Given the description of an element on the screen output the (x, y) to click on. 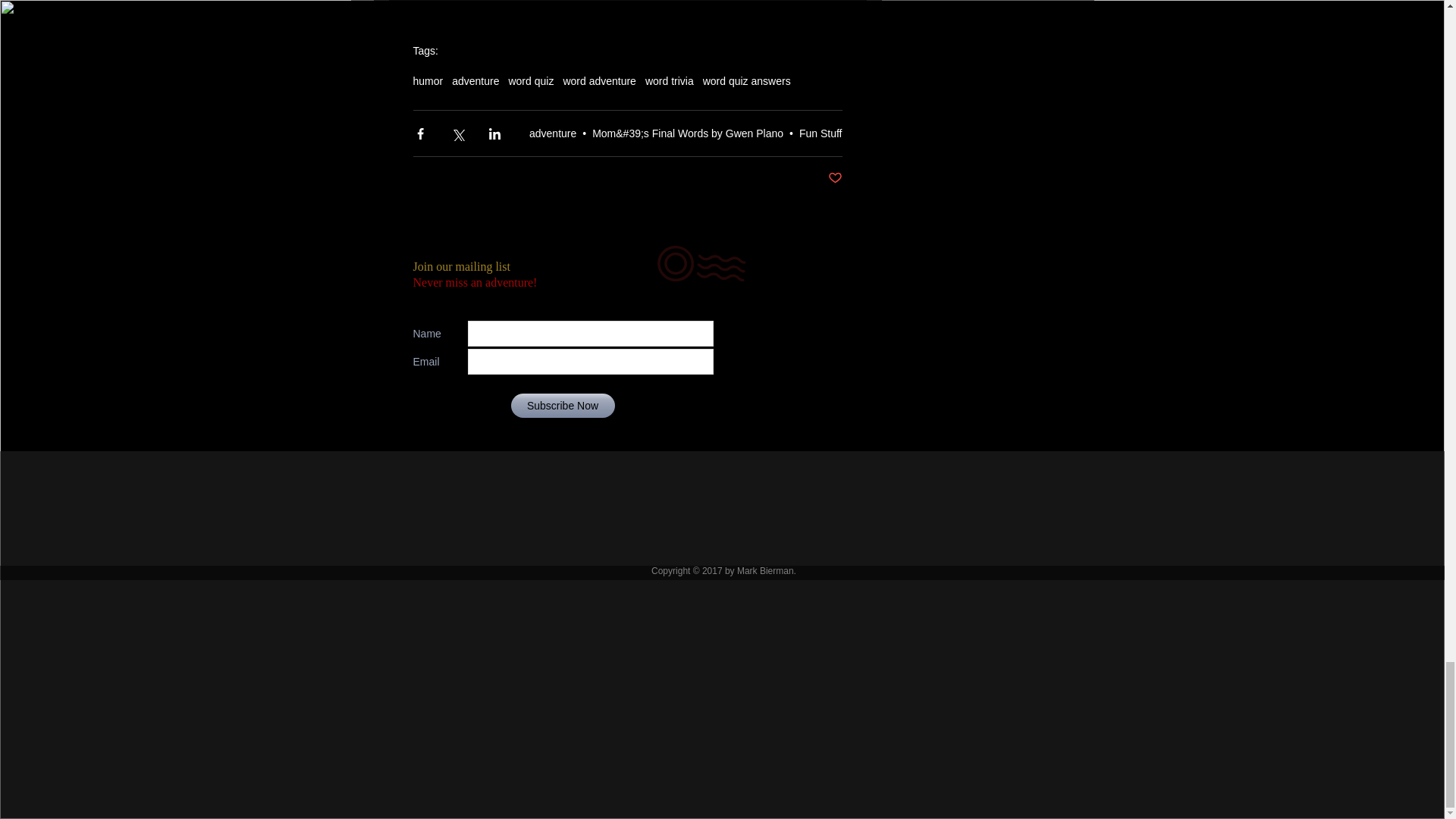
adventure (475, 80)
adventure (552, 133)
word trivia (669, 80)
Fun Stuff (821, 133)
word adventure (599, 80)
word quiz answers (746, 80)
Post not marked as liked (835, 178)
word quiz (530, 80)
humor (427, 80)
